Given the description of an element on the screen output the (x, y) to click on. 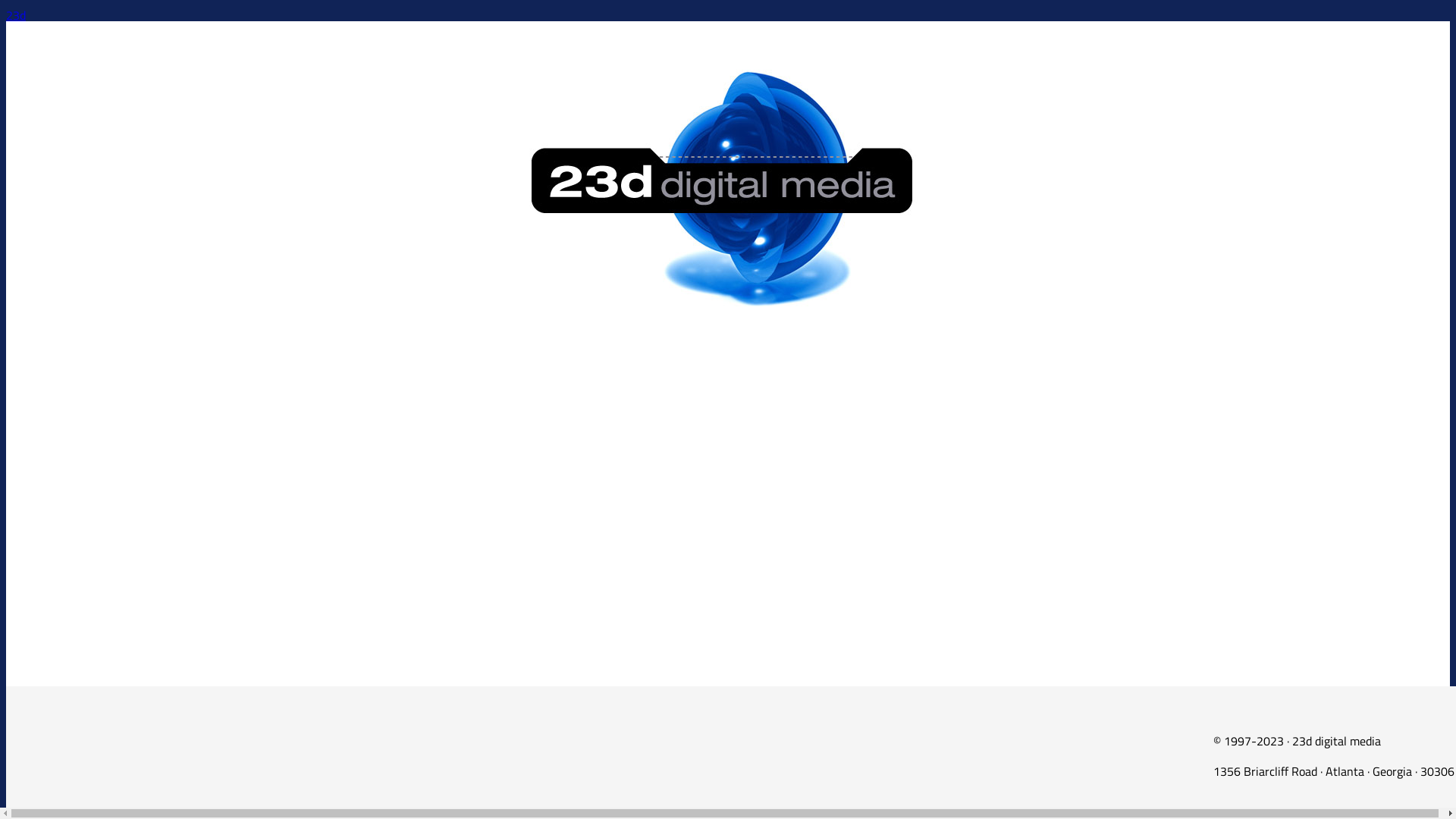
23d Element type: text (15, 15)
